Given the description of an element on the screen output the (x, y) to click on. 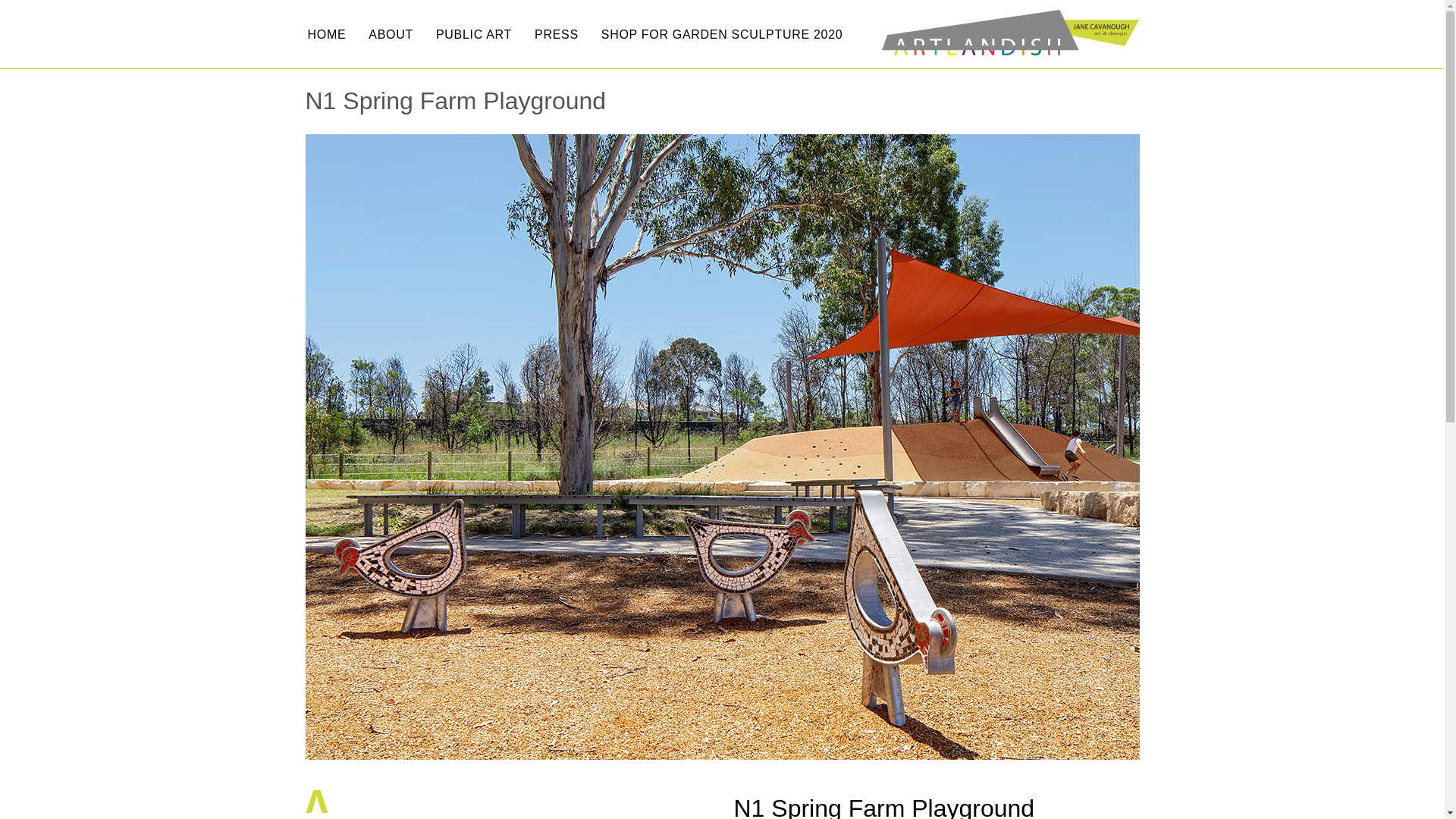
SHOP FOR GARDEN SCULPTURE 2020 Element type: text (721, 34)
HOME Element type: text (326, 34)
PUBLIC ART Element type: text (473, 34)
PRESS Element type: text (556, 34)
ABOUT Element type: text (390, 34)
